Given the description of an element on the screen output the (x, y) to click on. 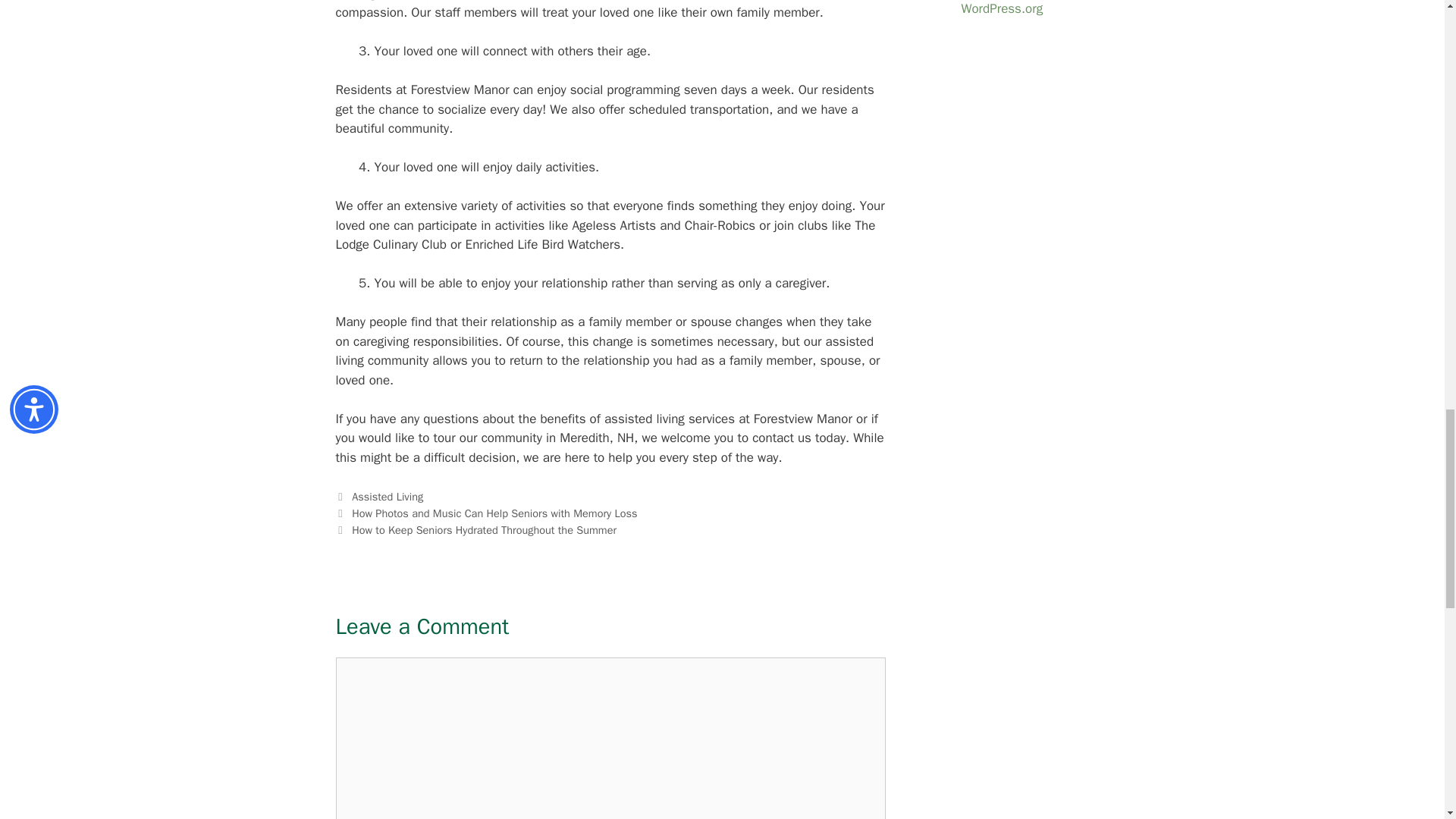
How Photos and Music Can Help Seniors with Memory Loss (494, 513)
How to Keep Seniors Hydrated Throughout the Summer (483, 530)
Assisted Living (387, 496)
